Given the description of an element on the screen output the (x, y) to click on. 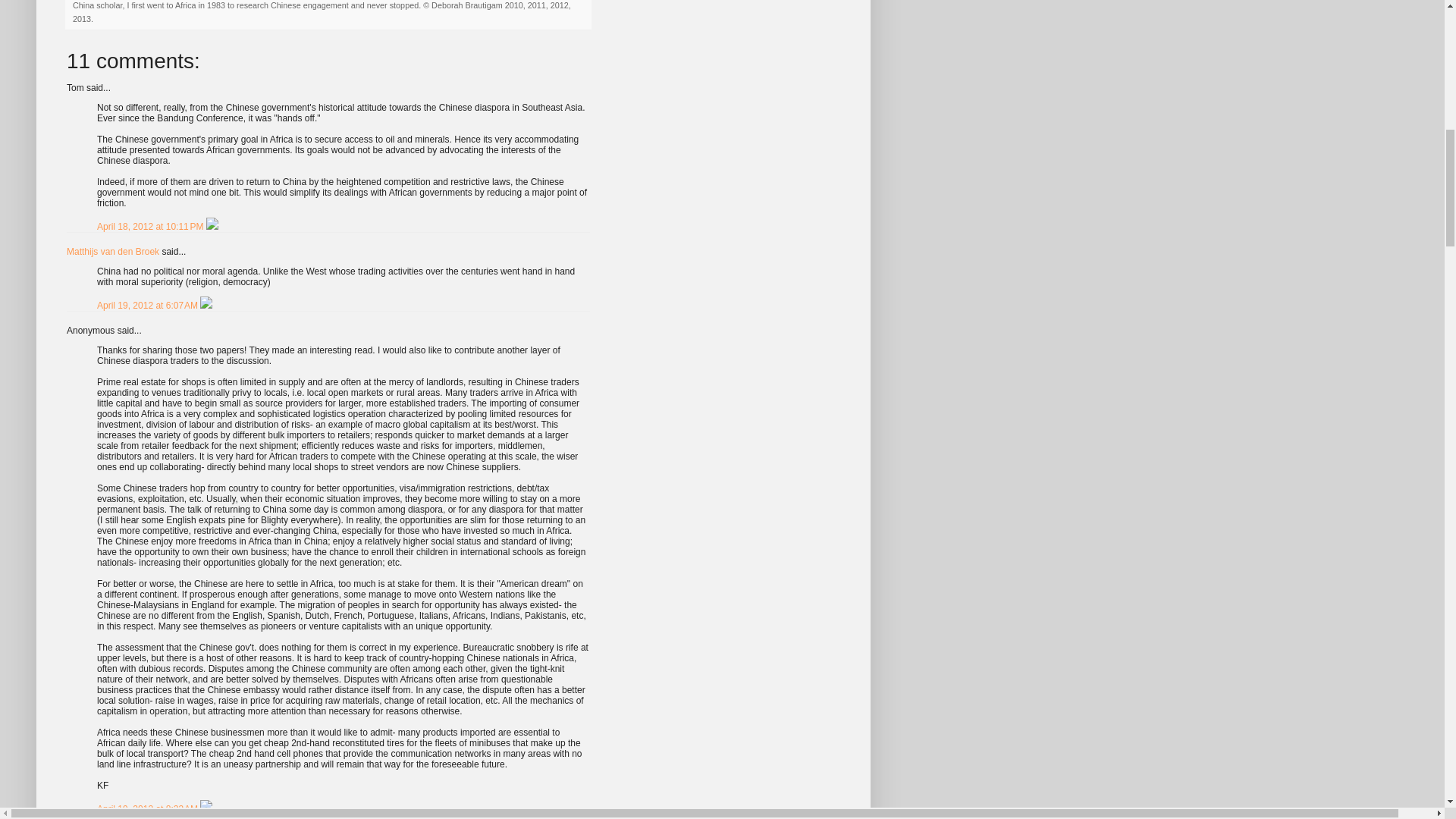
Delete Comment (206, 305)
Matthijs van den Broek (112, 251)
comment permalink (148, 808)
comment permalink (151, 226)
comment permalink (148, 305)
Delete Comment (212, 226)
